Given the description of an element on the screen output the (x, y) to click on. 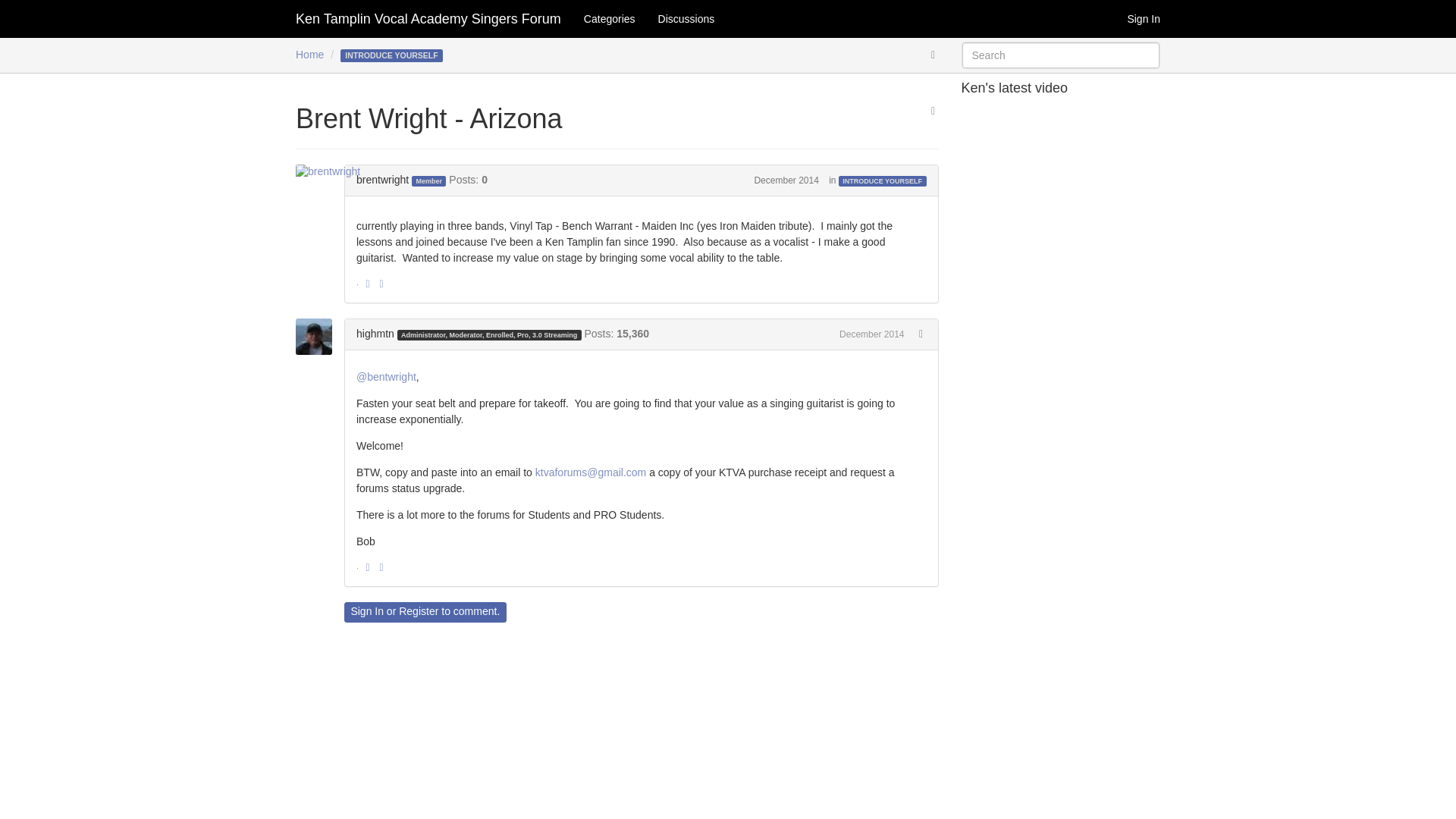
highmtn (375, 333)
December 30, 2014 5:57PM (786, 180)
INTRODUCE YOURSELF (882, 181)
December 30, 2014 11:09PM (872, 334)
Discussions (686, 18)
December 2014 (872, 334)
December 2014 (786, 180)
INTRODUCE YOURSELF (391, 54)
Sign In (367, 611)
Enter your search term. (1059, 54)
Categories (609, 18)
Home (309, 54)
brentwright (332, 171)
Ken Tamplin Vocal Academy Singers Forum (427, 18)
Register (418, 611)
